Given the description of an element on the screen output the (x, y) to click on. 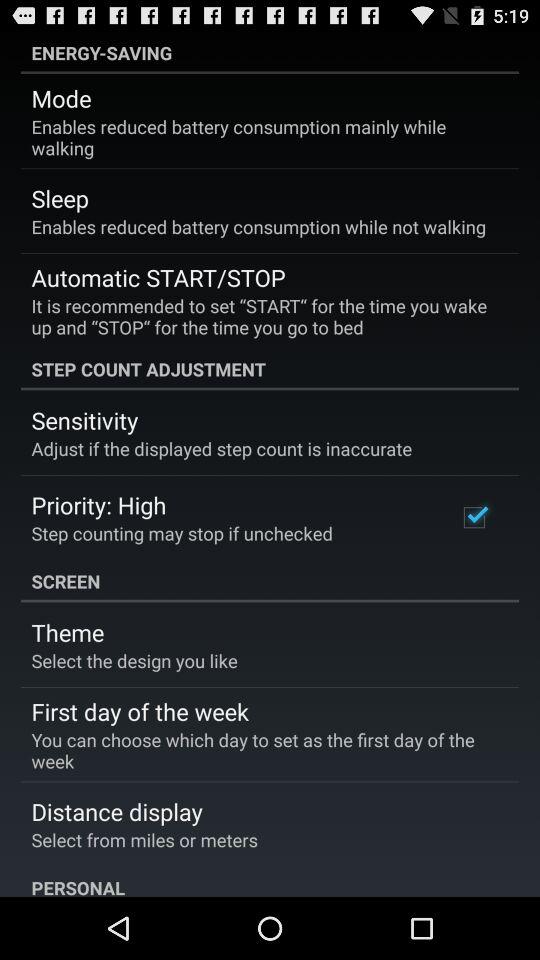
turn on the app next to the step counting may icon (474, 517)
